Given the description of an element on the screen output the (x, y) to click on. 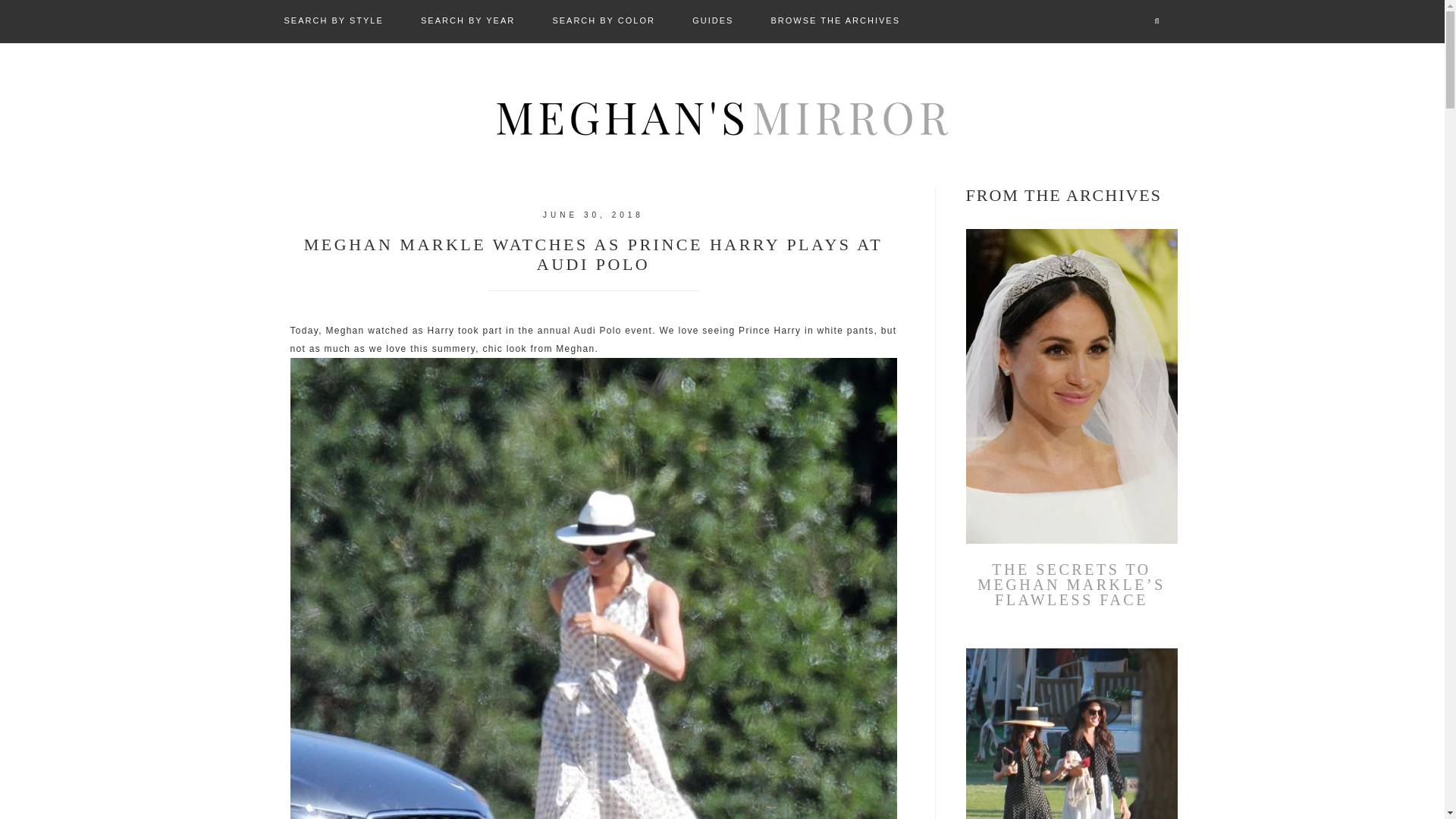
SEARCH BY YEAR (467, 20)
SEARCH BY COLOR (603, 20)
SEARCH BY STYLE (332, 20)
